Given the description of an element on the screen output the (x, y) to click on. 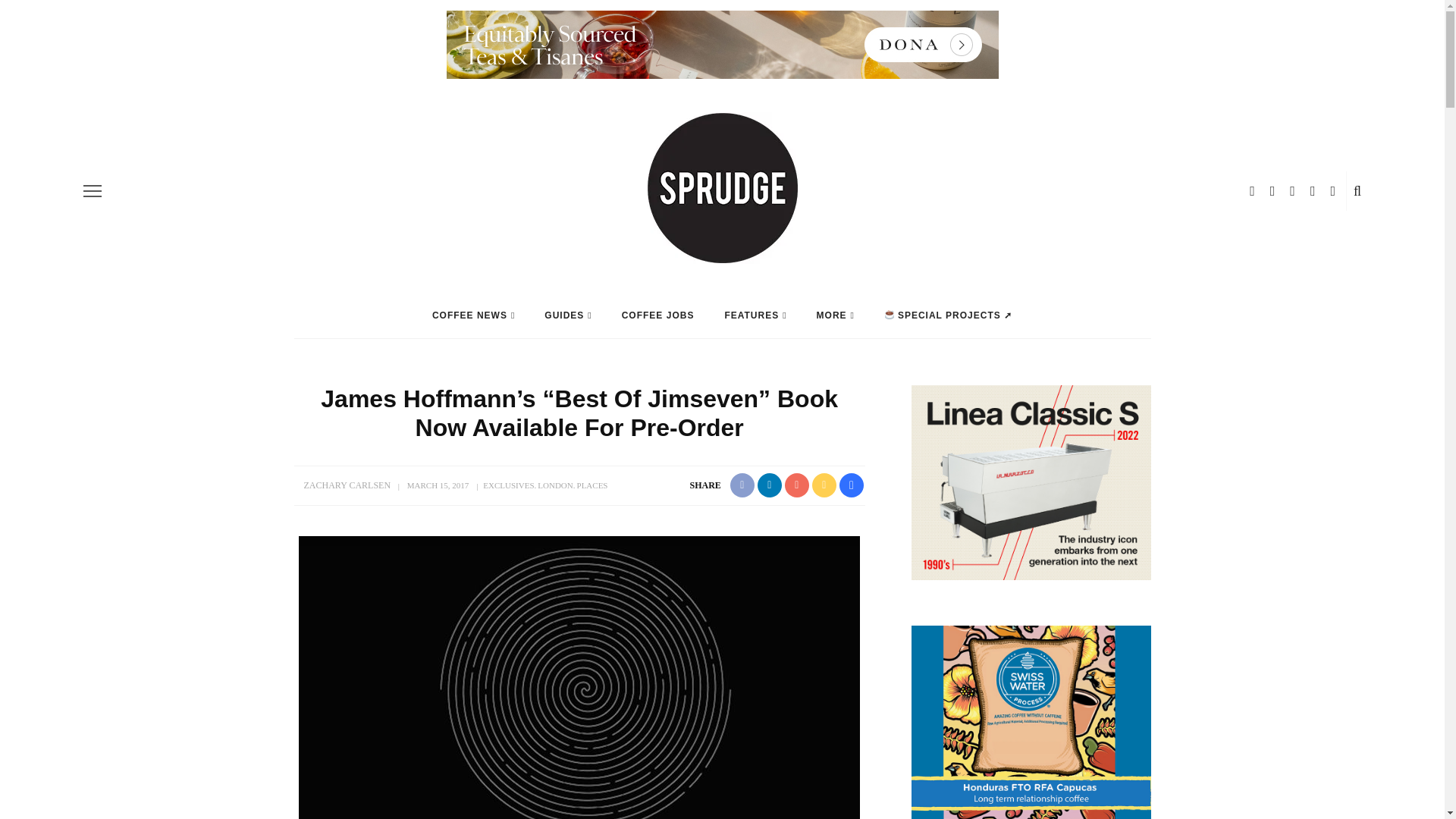
off canvas button (91, 190)
